Given the description of an element on the screen output the (x, y) to click on. 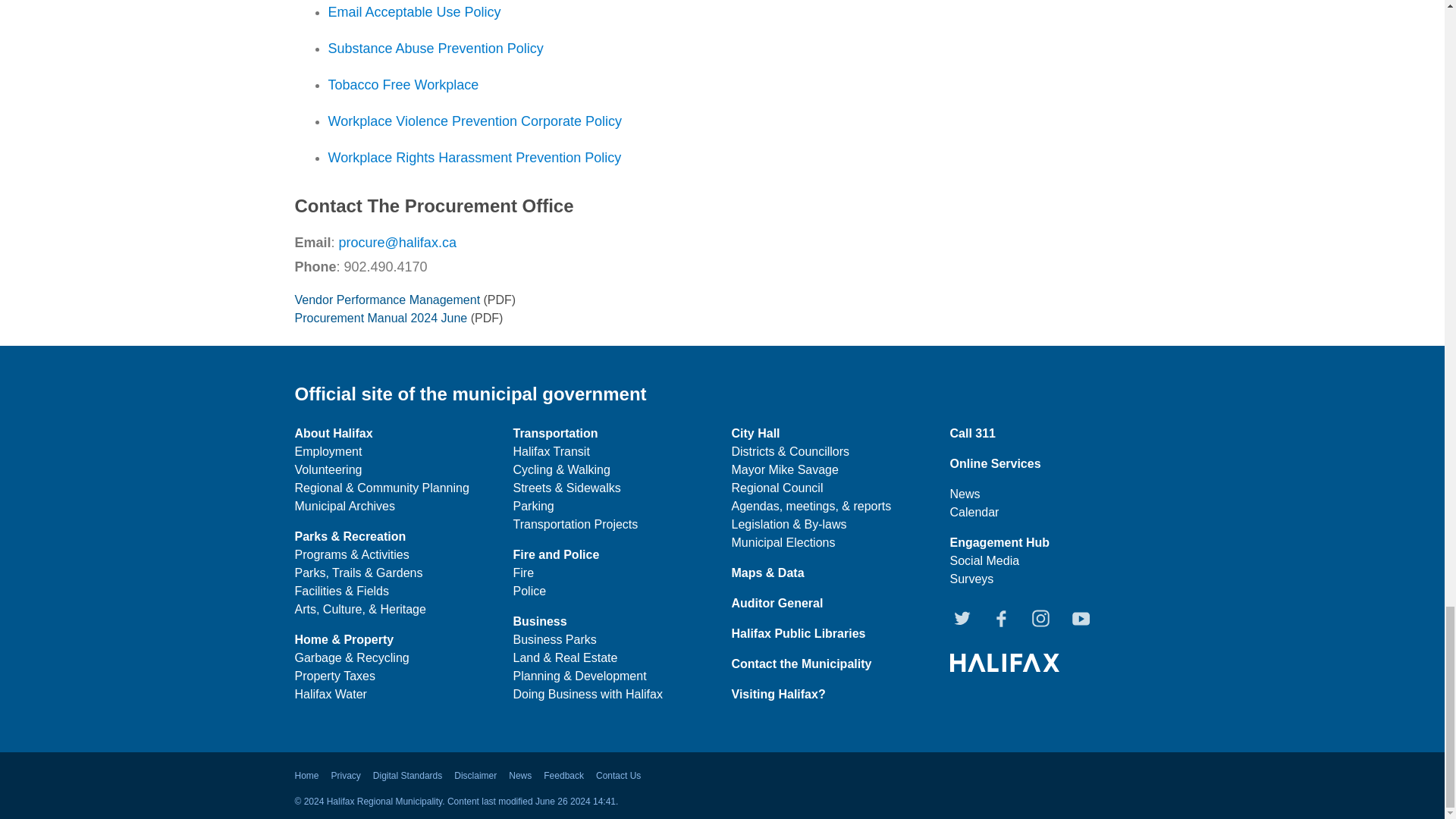
View Youtube page (1080, 615)
View Instagram page (1043, 615)
Vendor Performance Management (387, 299)
Back to home (1003, 661)
View Facebook page (1003, 615)
Procurement Manual 2024 June (380, 318)
View Twitter page (962, 615)
